Given the description of an element on the screen output the (x, y) to click on. 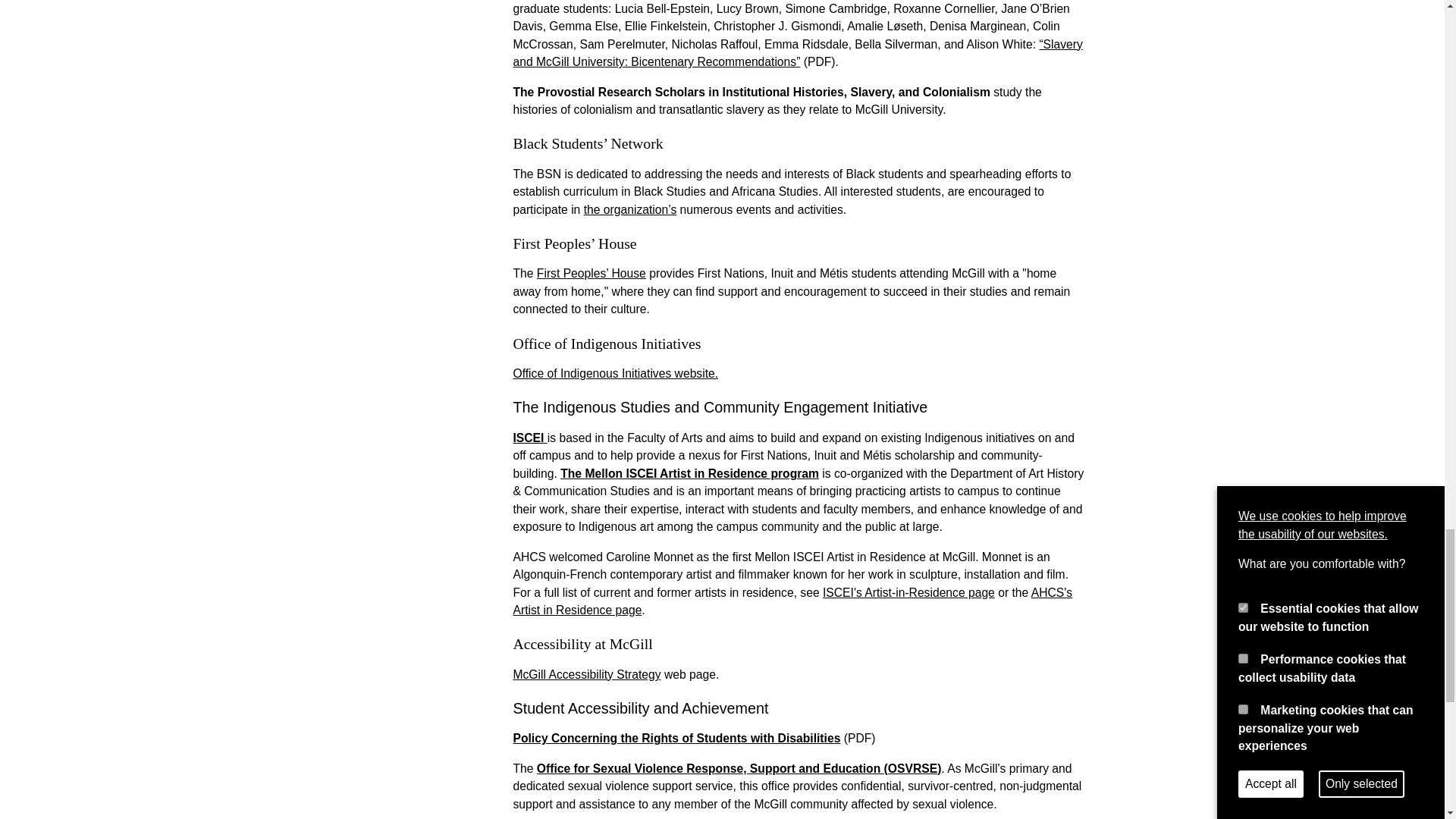
Office of Indigenous Initiatives website. (614, 373)
Policy Concerning the Rights of Students with Disabilities (676, 738)
The Mellon ISCEI Artist in Residence program (689, 472)
ISCEI's Artist-in-Residence page (908, 592)
McGill Accessibility Strategy (586, 674)
ISCEI (529, 437)
AHCS's Artist in Residence page (791, 601)
